Given the description of an element on the screen output the (x, y) to click on. 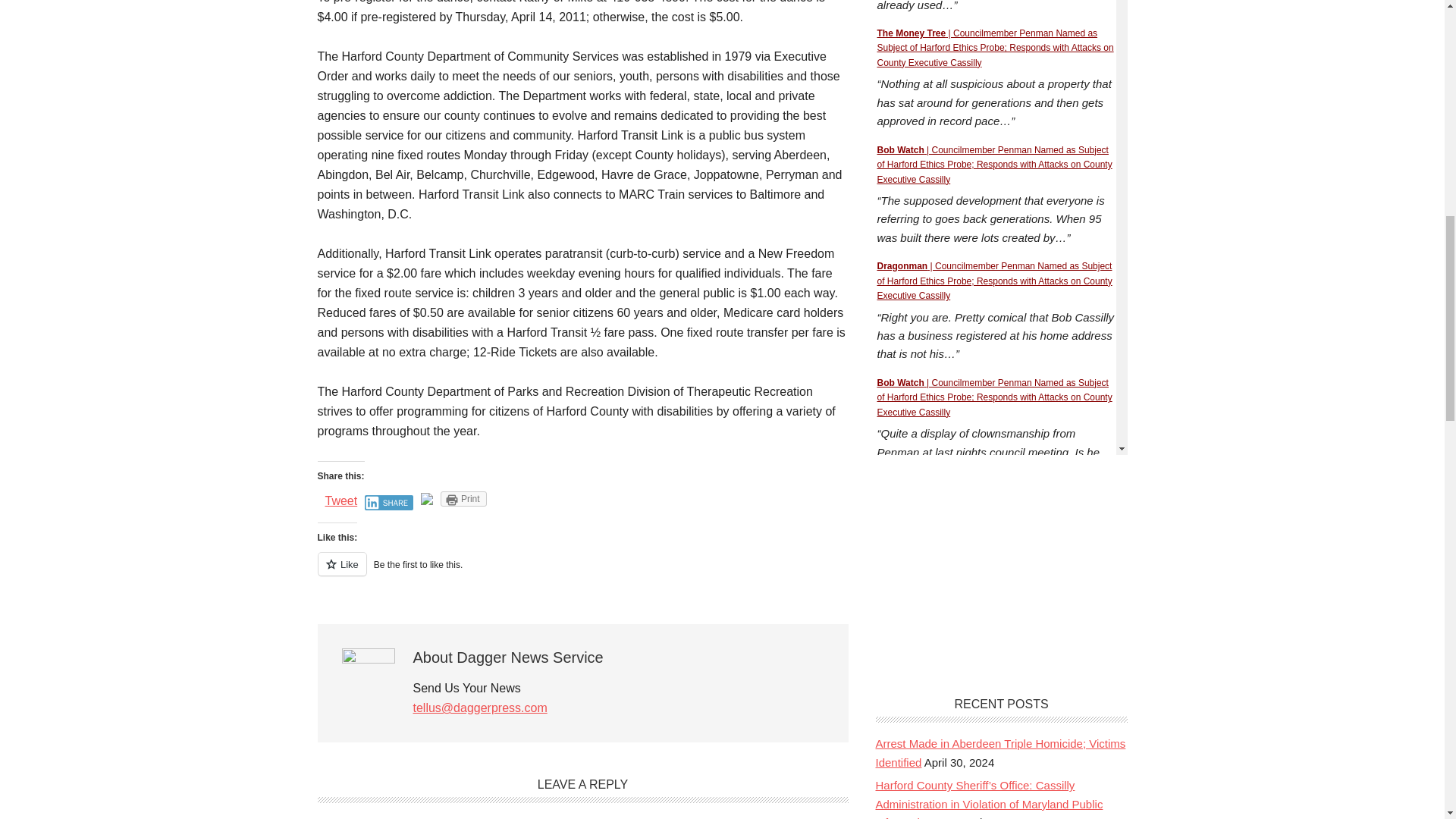
Click to print (463, 498)
Print (463, 498)
SHARE (389, 502)
Tweet (340, 500)
logged in (411, 818)
